Given the description of an element on the screen output the (x, y) to click on. 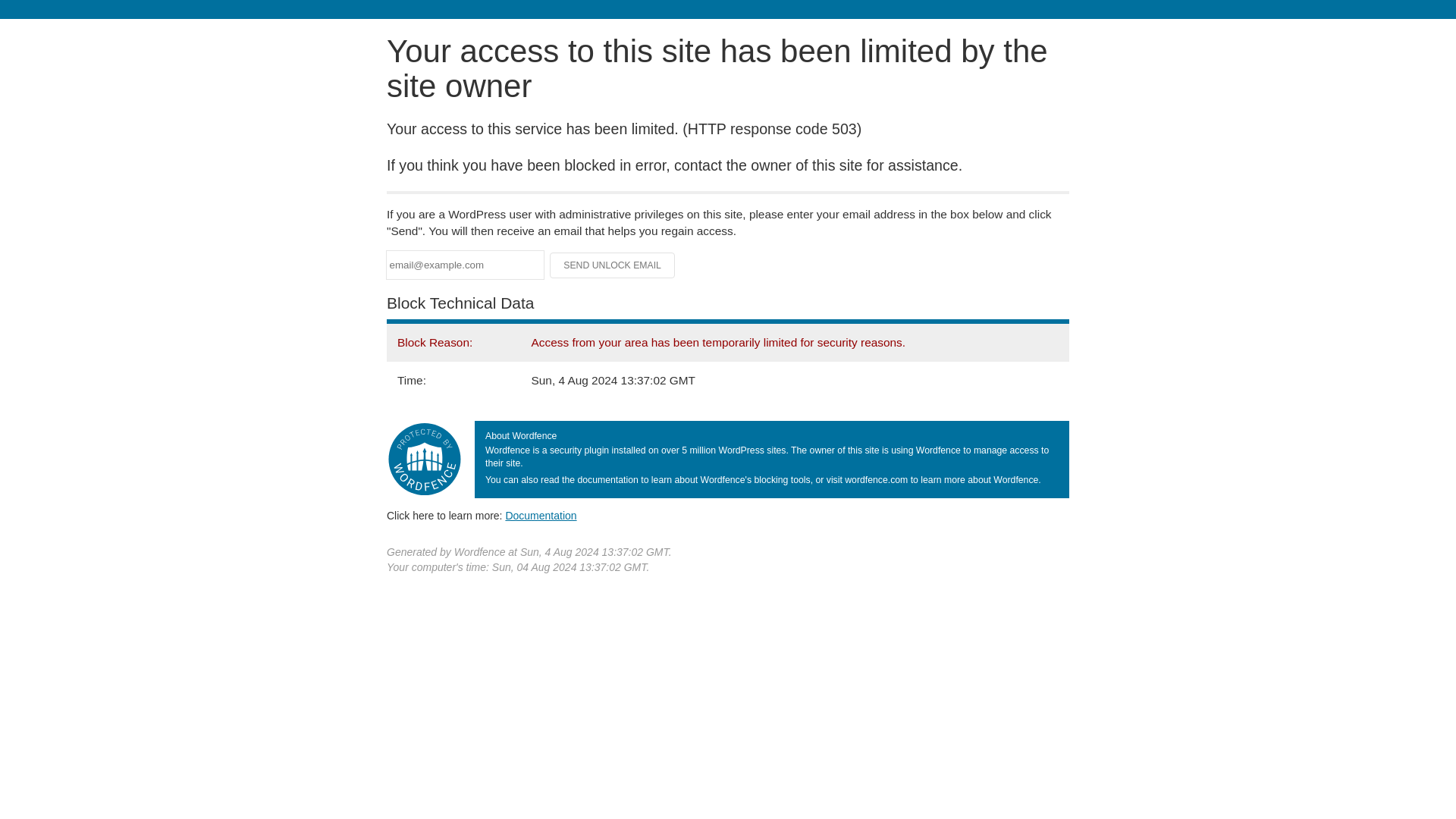
Documentation (540, 515)
Send Unlock Email (612, 265)
Send Unlock Email (612, 265)
